Given the description of an element on the screen output the (x, y) to click on. 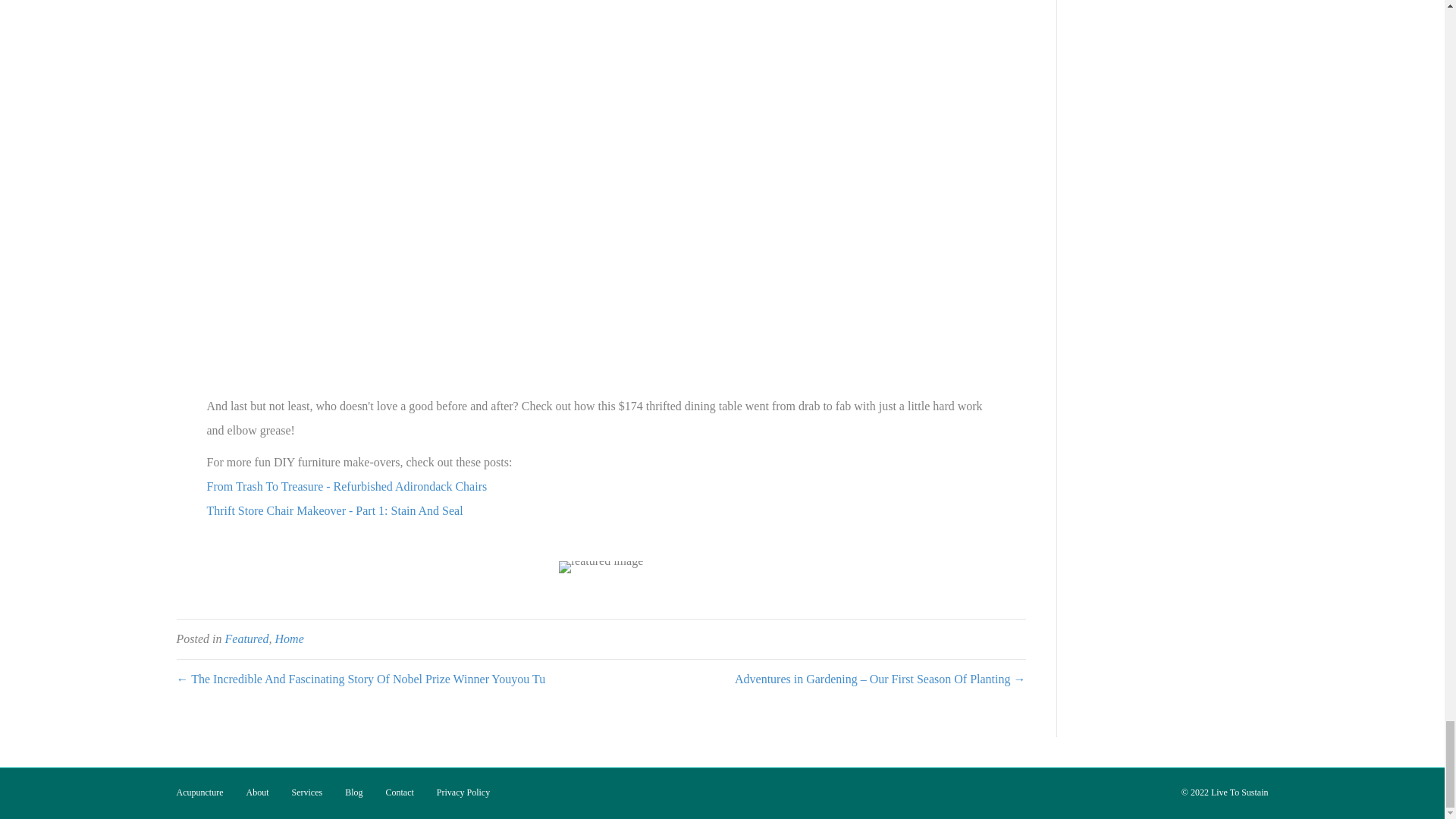
From Trash To Treasure - Refurbished Adirondack Chairs (346, 486)
Featured (245, 638)
Home (289, 638)
Thrift Store Chair Makeover - Part 1: Stain And Seal (334, 510)
